Given the description of an element on the screen output the (x, y) to click on. 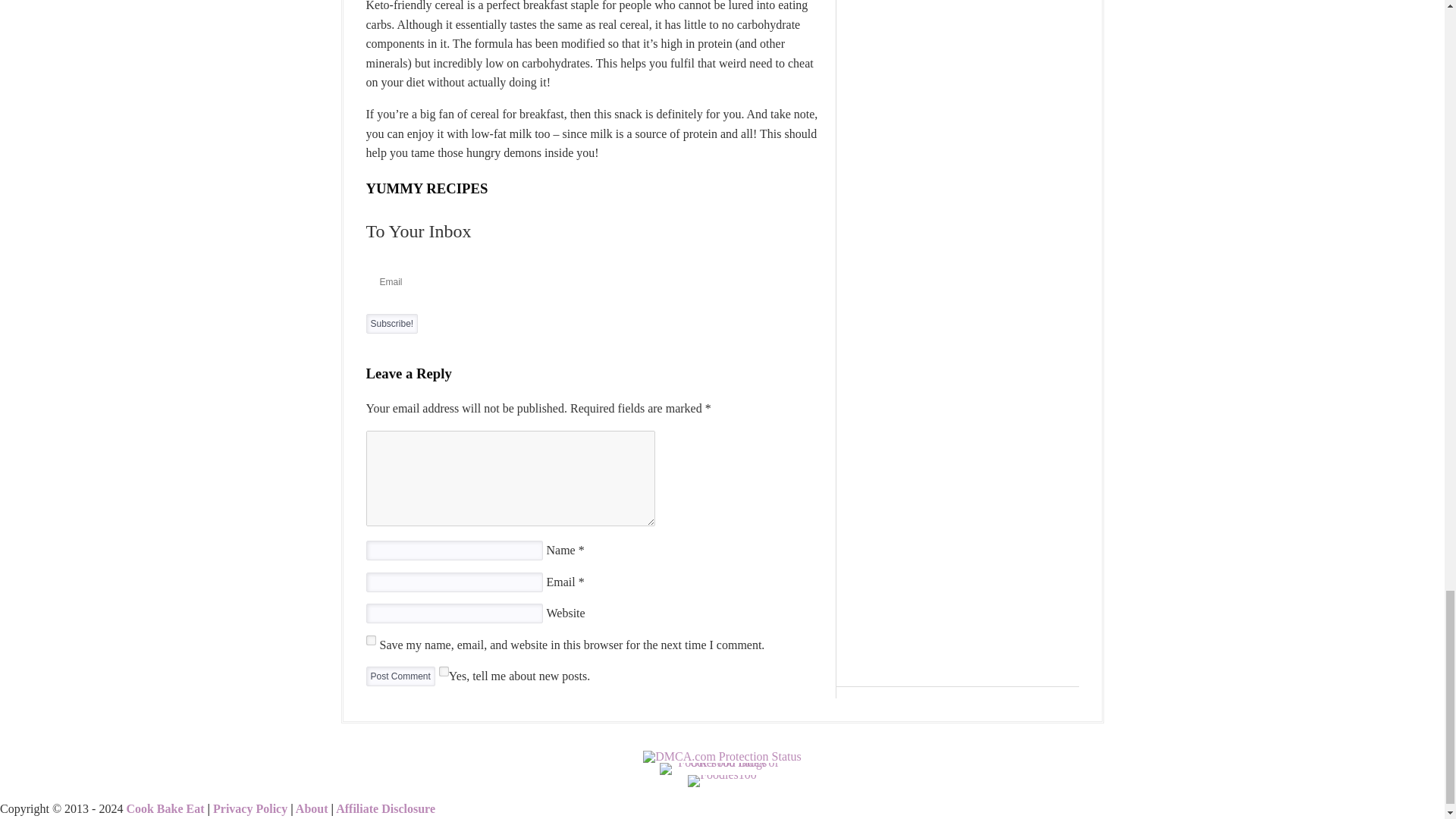
Post Comment (399, 676)
Email (593, 281)
1 (443, 671)
Subscribe! (391, 323)
yes (370, 640)
